Given the description of an element on the screen output the (x, y) to click on. 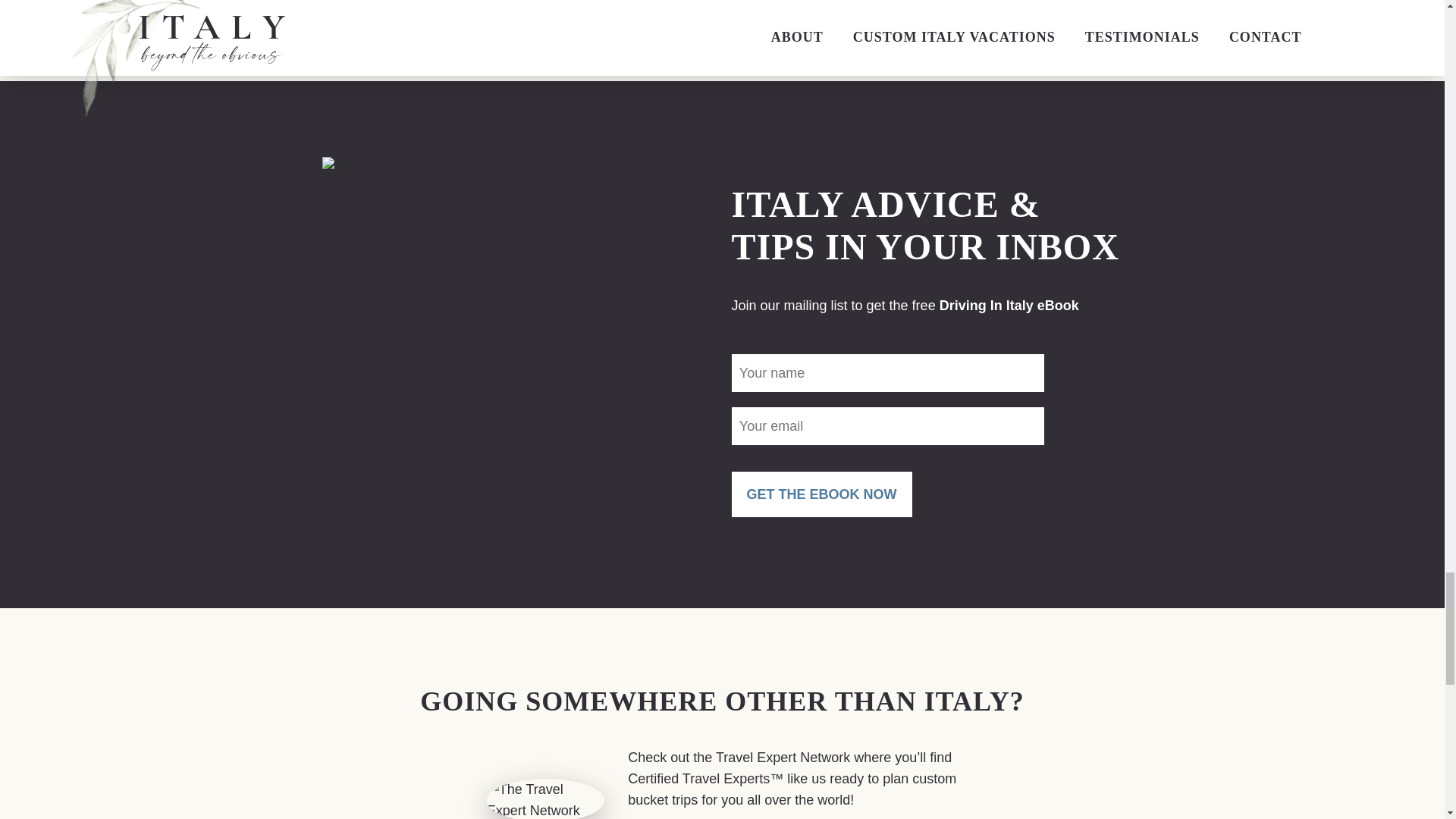
Get The eBook Now (820, 493)
Get The eBook Now (820, 493)
